Given the description of an element on the screen output the (x, y) to click on. 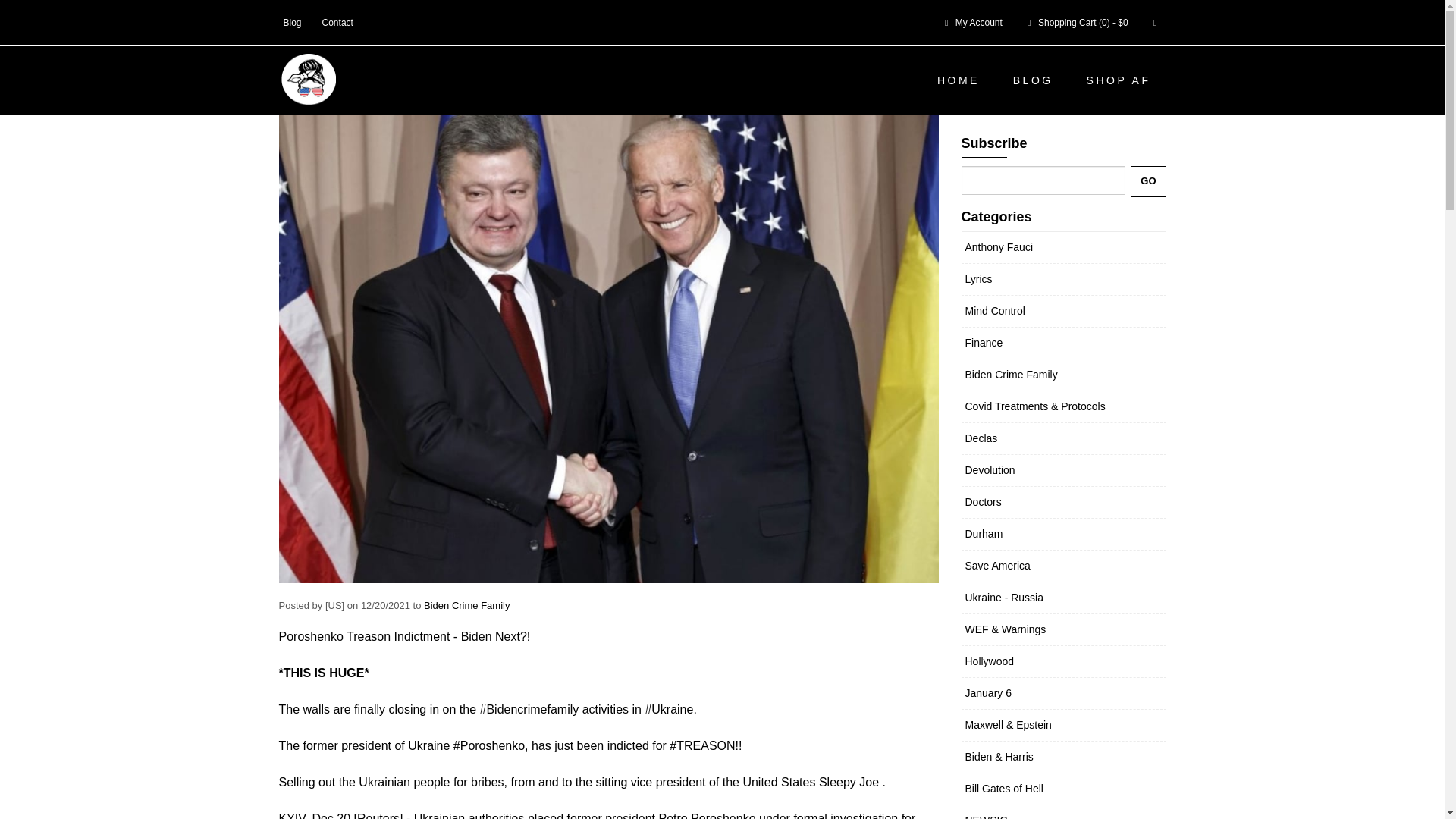
Durham (983, 533)
Devolution (988, 469)
Mind Control (994, 310)
GO (1148, 181)
GO (1148, 181)
Search (1155, 22)
Finance (983, 342)
Home (293, 20)
Blog Home (347, 20)
